Given the description of an element on the screen output the (x, y) to click on. 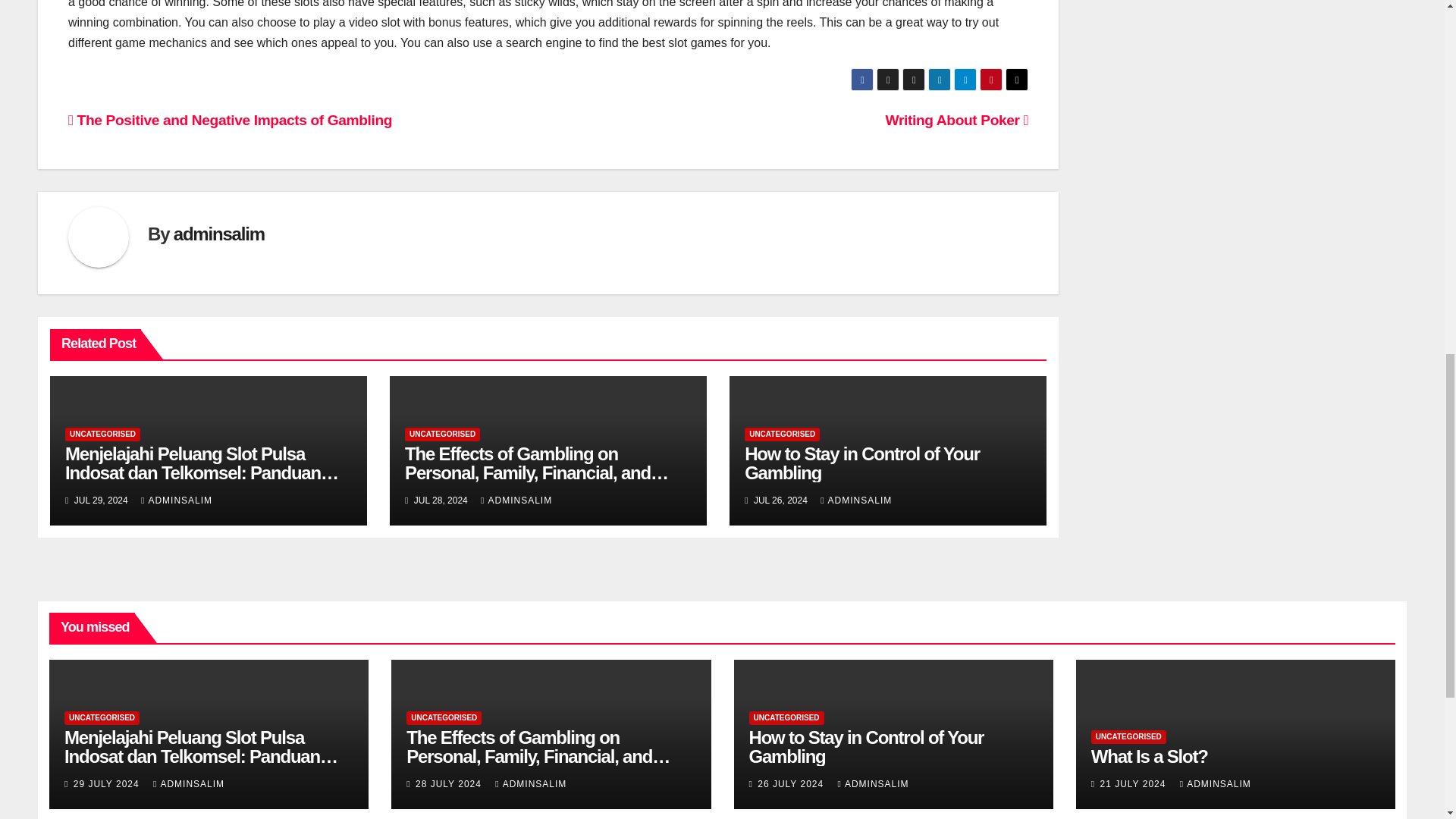
Writing About Poker (957, 119)
How to Stay in Control of Your Gambling (861, 463)
UNCATEGORISED (442, 434)
29 JULY 2024 (108, 783)
UNCATEGORISED (781, 434)
ADMINSALIM (188, 783)
The Positive and Negative Impacts of Gambling (229, 119)
UNCATEGORISED (101, 717)
ADMINSALIM (176, 500)
